Given the description of an element on the screen output the (x, y) to click on. 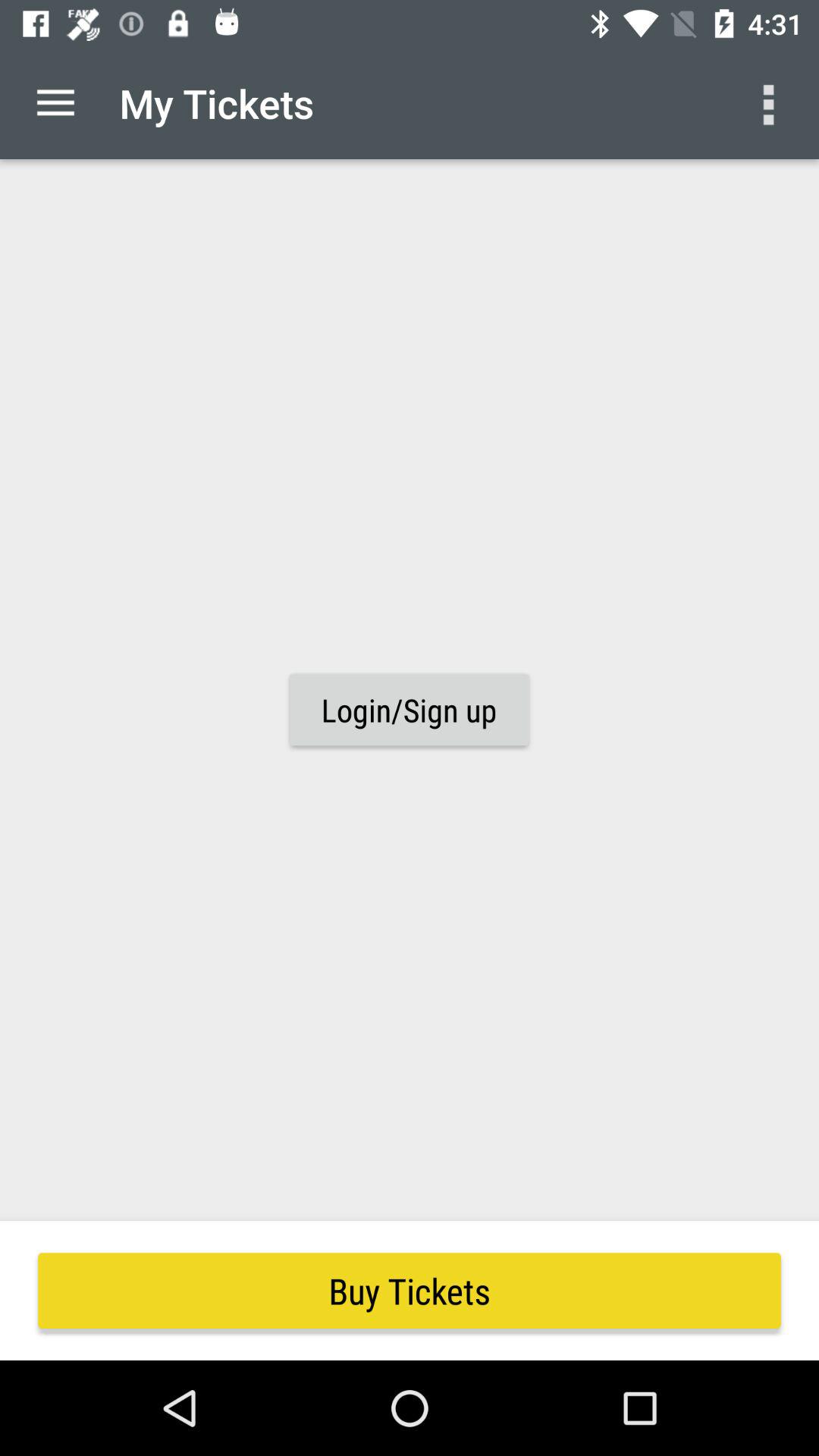
flip to login/sign up item (408, 709)
